Given the description of an element on the screen output the (x, y) to click on. 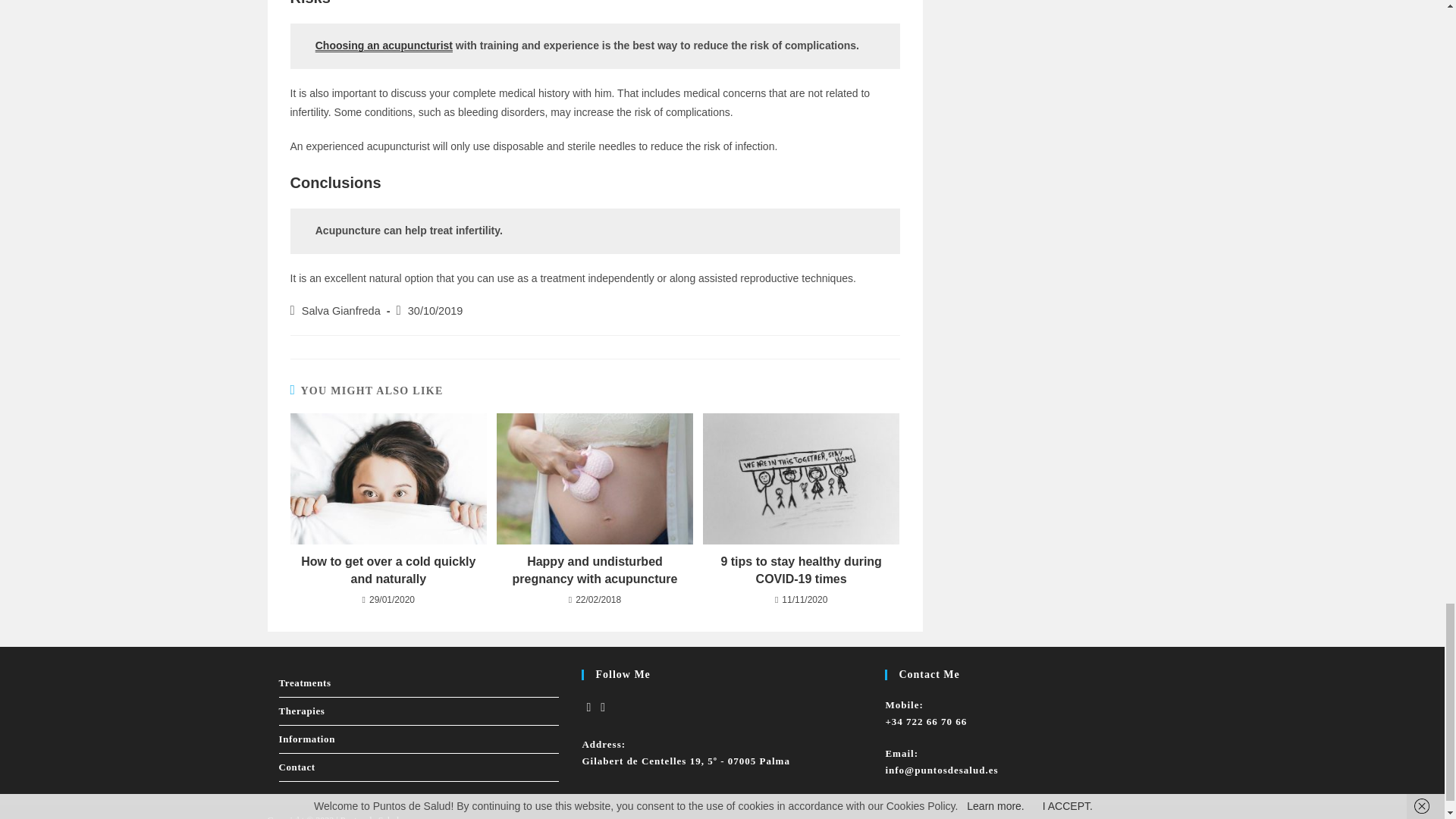
How to get over a cold quickly and naturally (387, 570)
Salva Gianfreda (340, 310)
Choosing an acupuncturist (383, 45)
Happy and undisturbed pregnancy with acupuncture (594, 570)
How to get over a cold quickly and naturally (387, 478)
9 tips to stay healthy during COVID-19 times (801, 570)
Posts by Salva Gianfreda (340, 310)
Happy and undisturbed pregnancy with acupuncture (595, 478)
9 tips to stay healthy during COVID-19 times (801, 478)
